Given the description of an element on the screen output the (x, y) to click on. 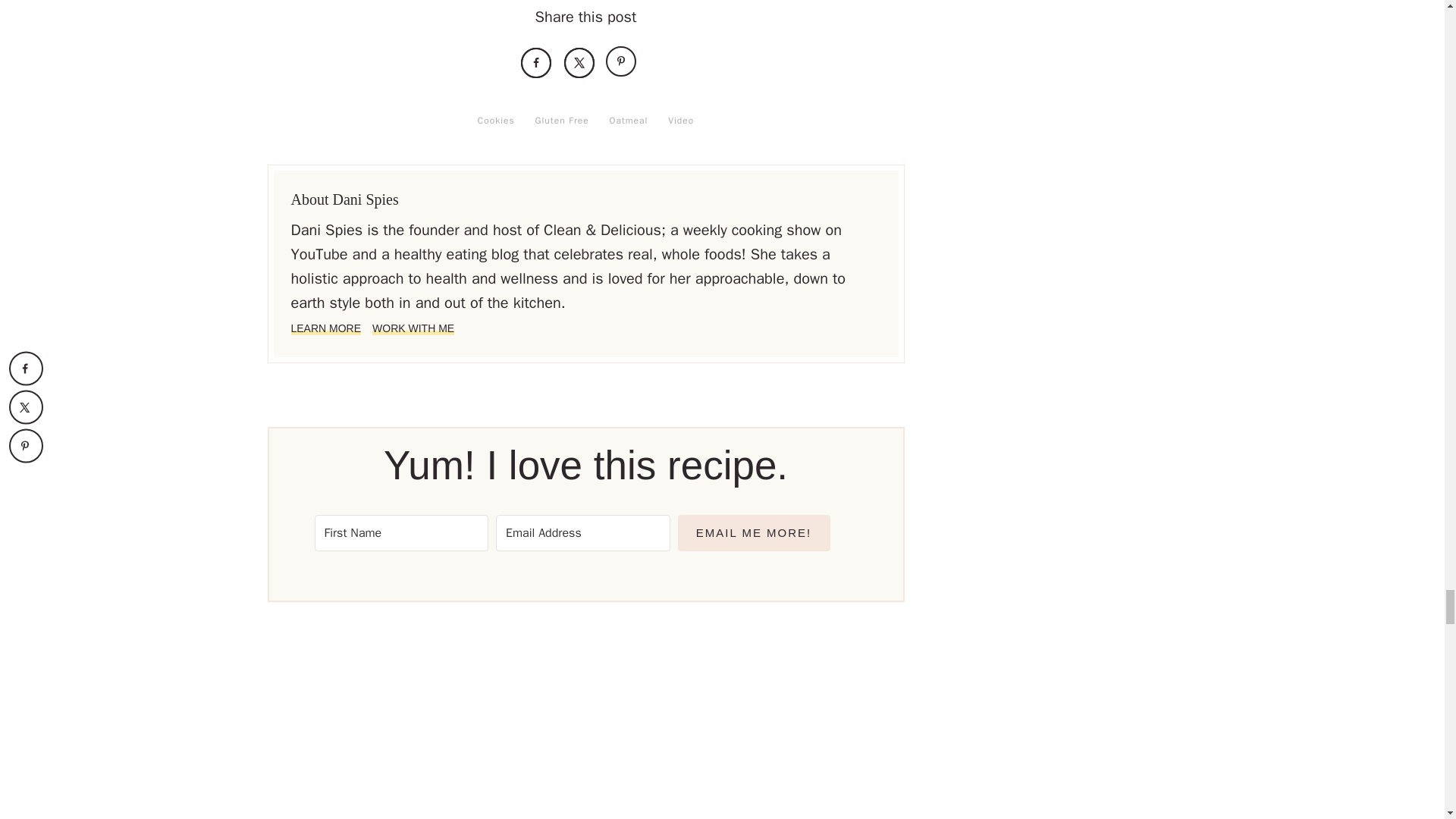
Share on X (579, 62)
Share on Facebook (536, 62)
Save to Pinterest (622, 62)
